Given the description of an element on the screen output the (x, y) to click on. 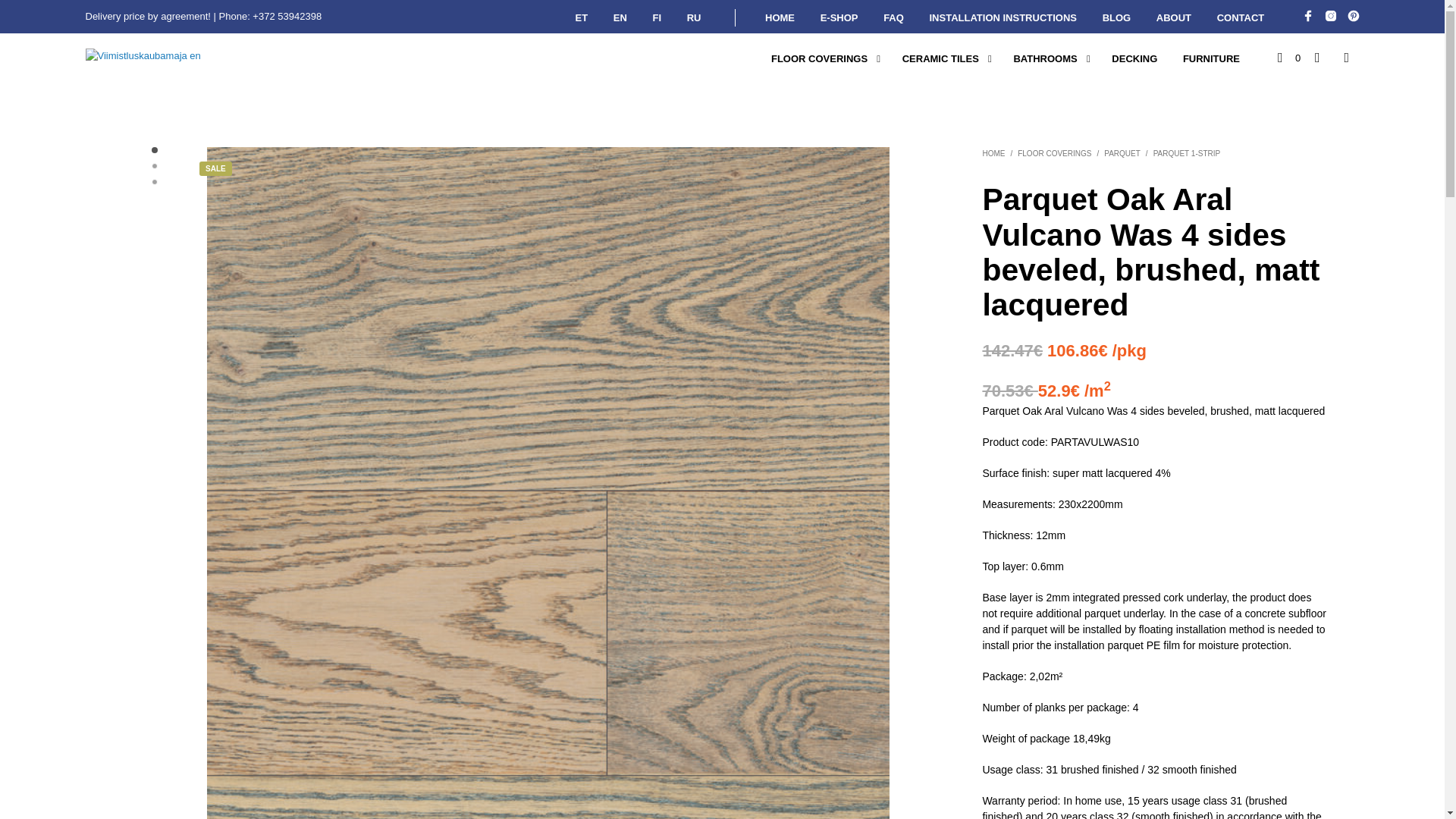
ABOUT (1173, 17)
Viimistluskaubamaja en (1307, 15)
FI (656, 17)
EN (620, 17)
CONTACT (1240, 17)
ET (581, 17)
RU (694, 17)
INSTALLATION INSTRUCTIONS (1002, 17)
FLOOR COVERINGS (819, 58)
E-SHOP (839, 17)
BLOG (1116, 17)
HOME (780, 17)
FAQ (893, 17)
BATHROOMS (1044, 58)
CERAMIC TILES (940, 58)
